Given the description of an element on the screen output the (x, y) to click on. 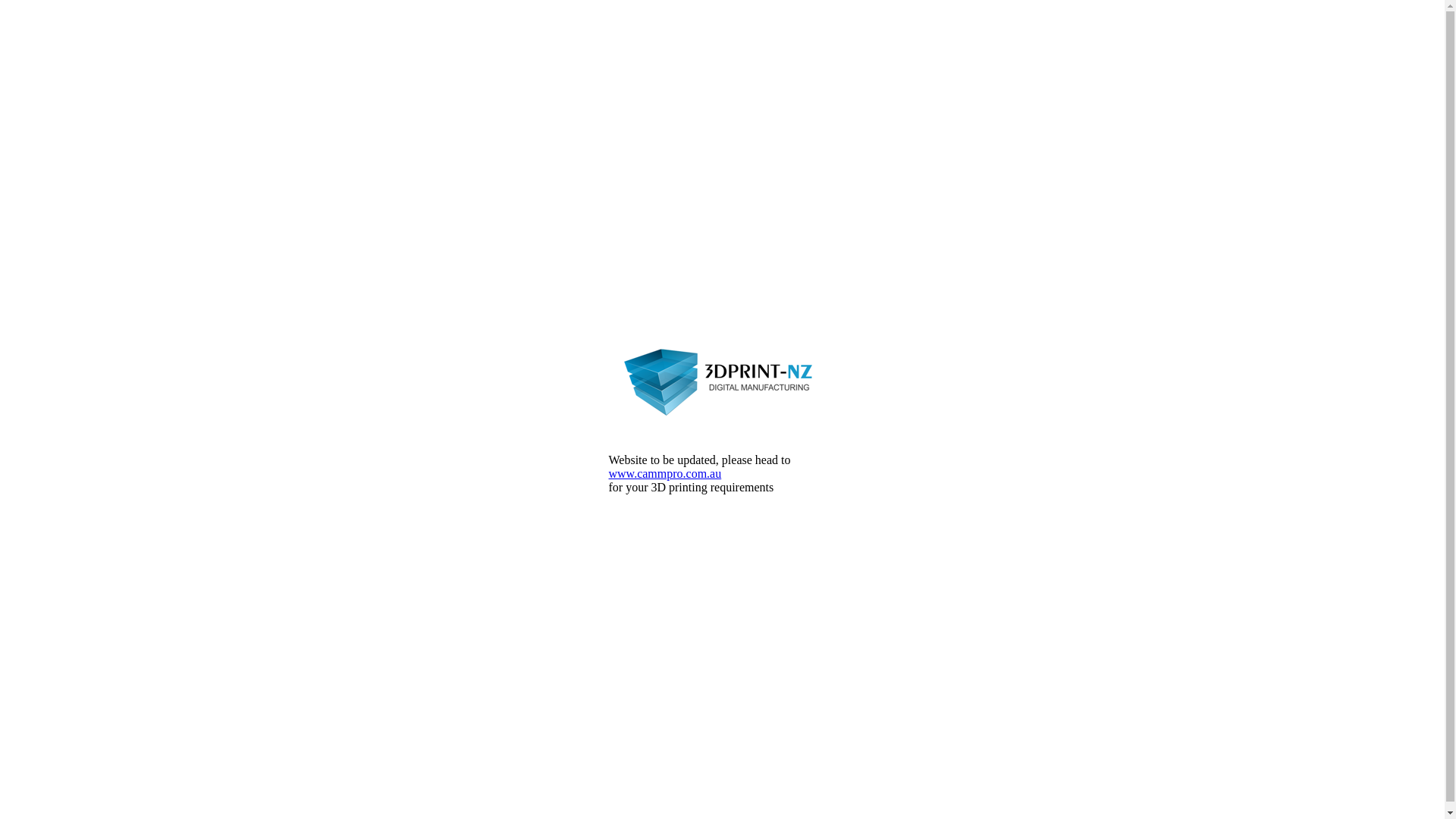
www.cammpro.com.au Element type: text (664, 473)
